Given the description of an element on the screen output the (x, y) to click on. 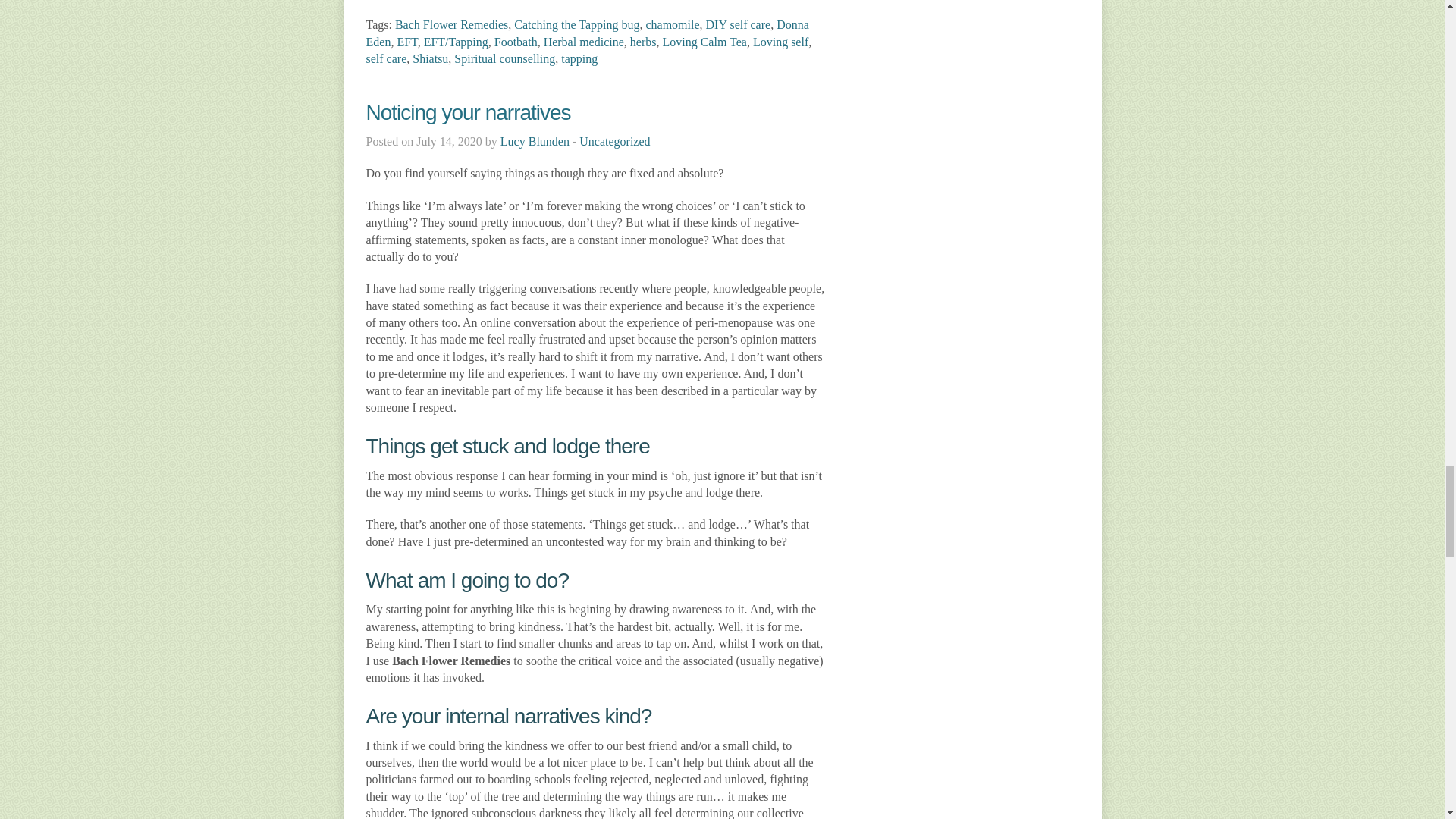
Noticing your narratives (467, 112)
Posts by Lucy Blunden (534, 141)
